Given the description of an element on the screen output the (x, y) to click on. 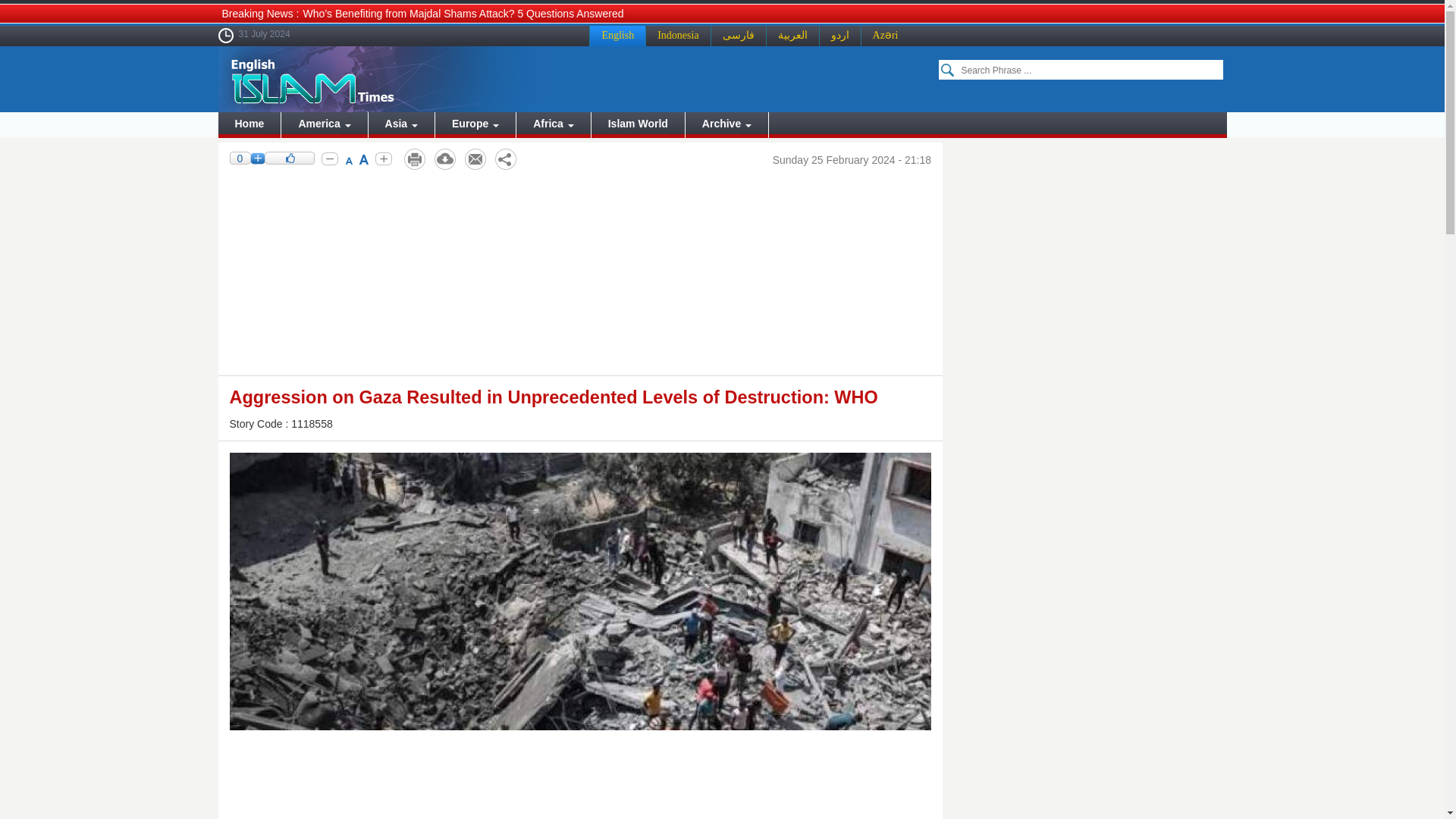
Print Edition (414, 159)
Home (249, 125)
English (617, 35)
Downloading the File (444, 159)
Asia (400, 125)
Send to a Friend (475, 159)
Indonesia (677, 35)
America (323, 125)
